Given the description of an element on the screen output the (x, y) to click on. 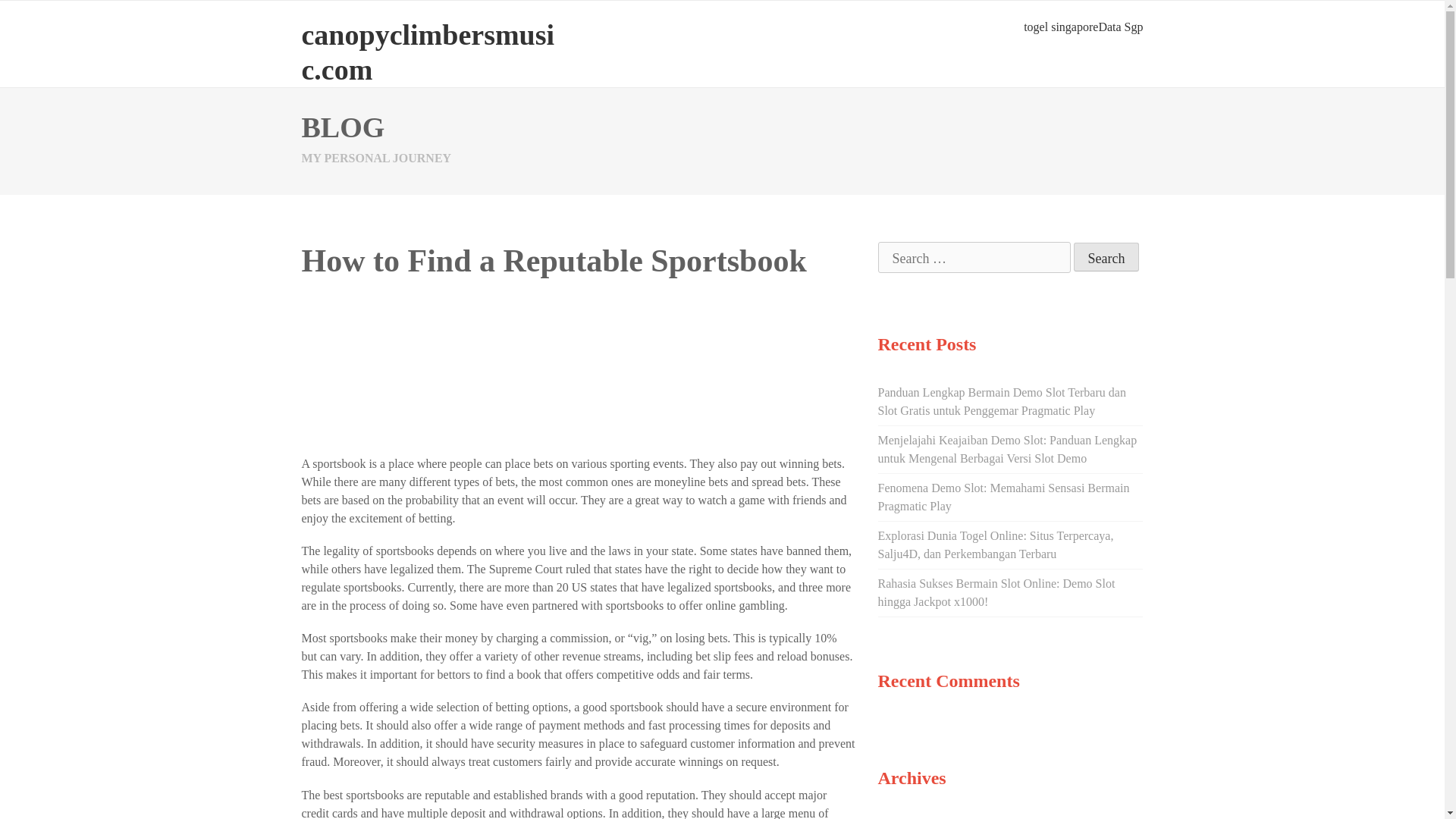
Data Sgp (1119, 27)
canopyclimbersmusic.com (427, 51)
Search (1107, 256)
togel singapore (1060, 27)
Search (1107, 256)
